Given the description of an element on the screen output the (x, y) to click on. 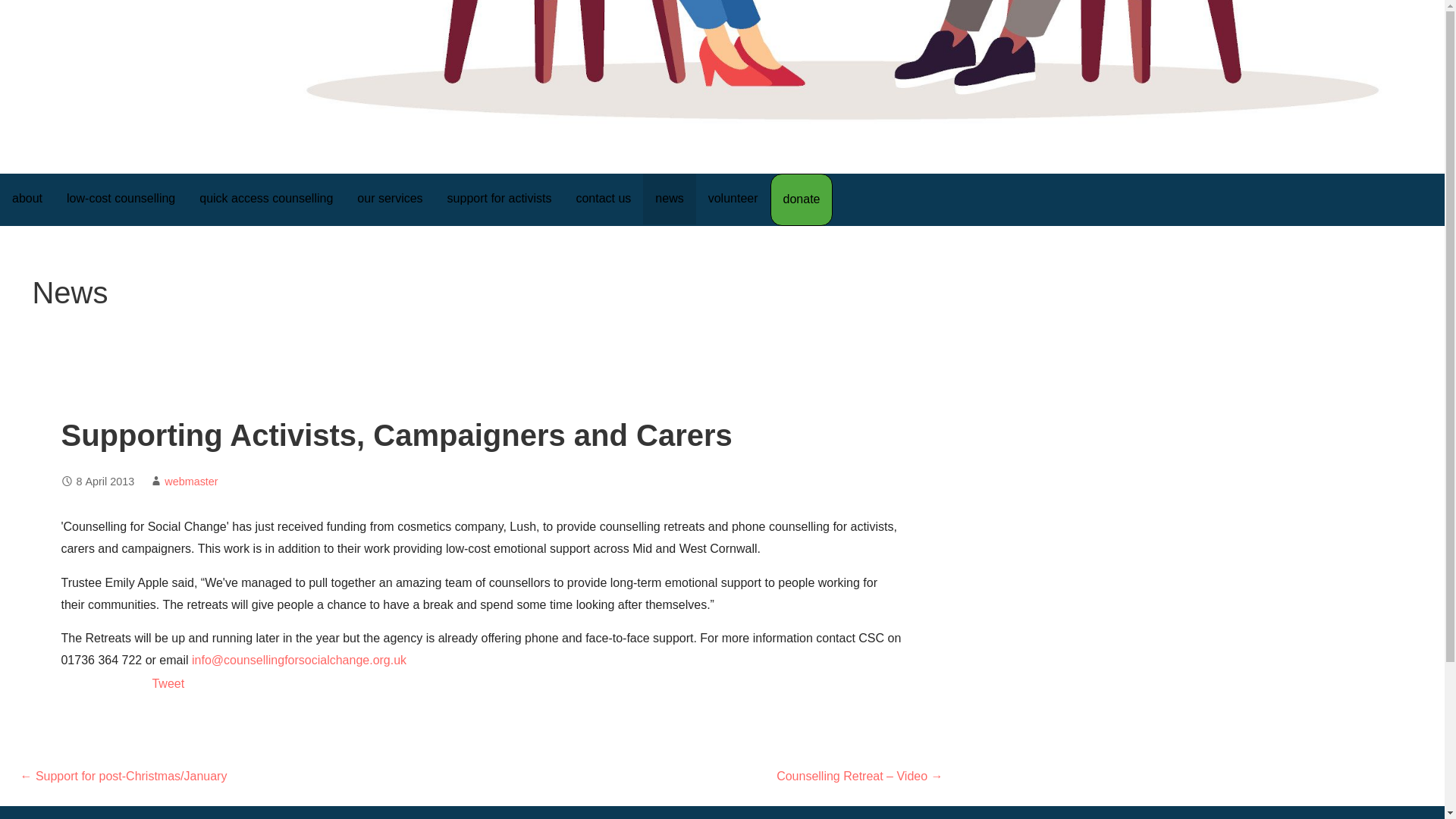
quick access counselling (266, 198)
low-cost counselling (121, 198)
Counselling for Social Change (197, 104)
support for activists (499, 198)
donate (801, 199)
contact us (603, 198)
our services (389, 198)
Posts by webmaster (190, 481)
webmaster (190, 481)
volunteer (732, 198)
about (27, 198)
news (669, 198)
Tweet (167, 683)
